Given the description of an element on the screen output the (x, y) to click on. 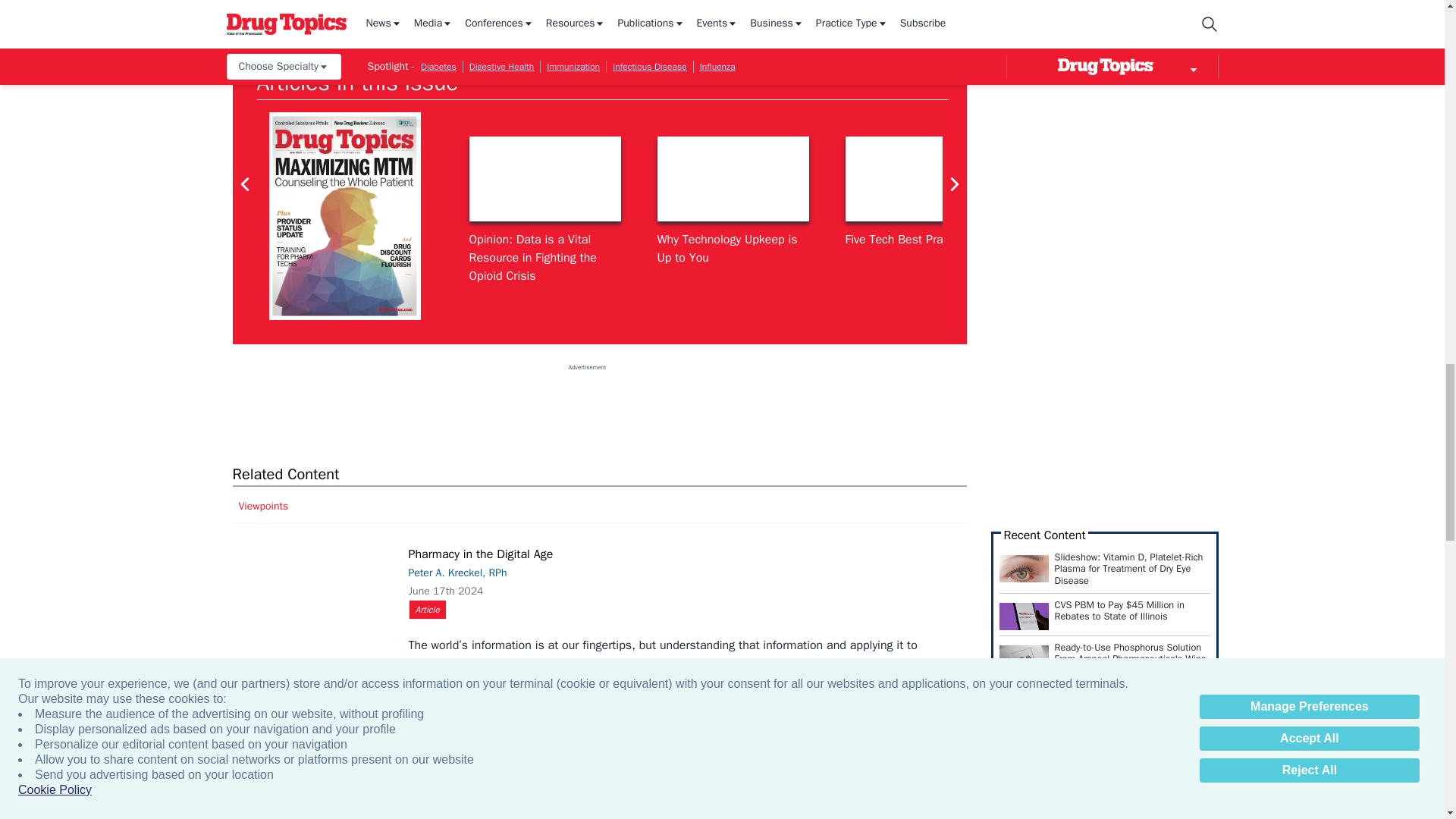
Five Tech Best Practices (919, 178)
Zulresso Product Image (1108, 178)
